Given the description of an element on the screen output the (x, y) to click on. 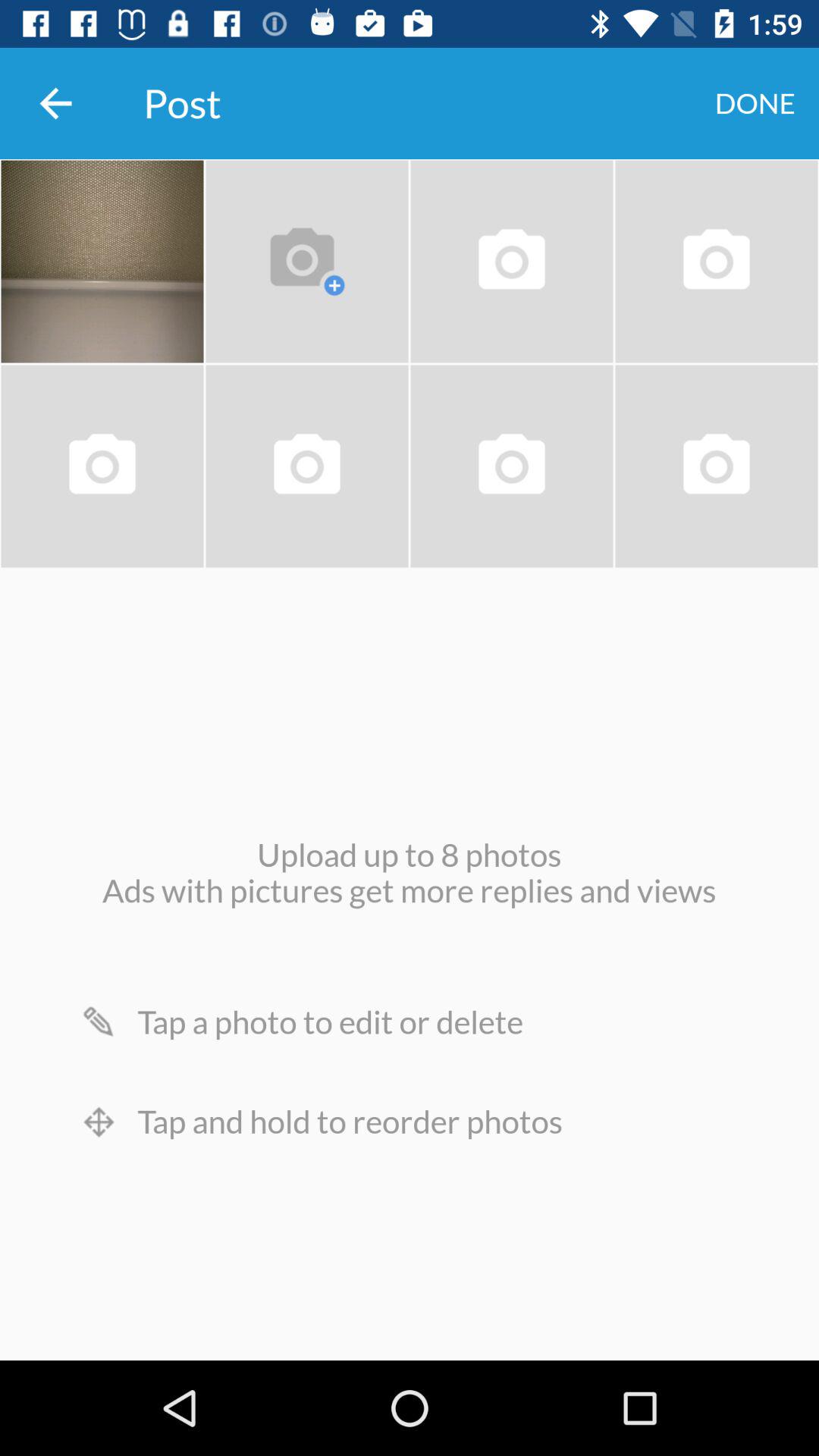
choose done item (755, 103)
